Given the description of an element on the screen output the (x, y) to click on. 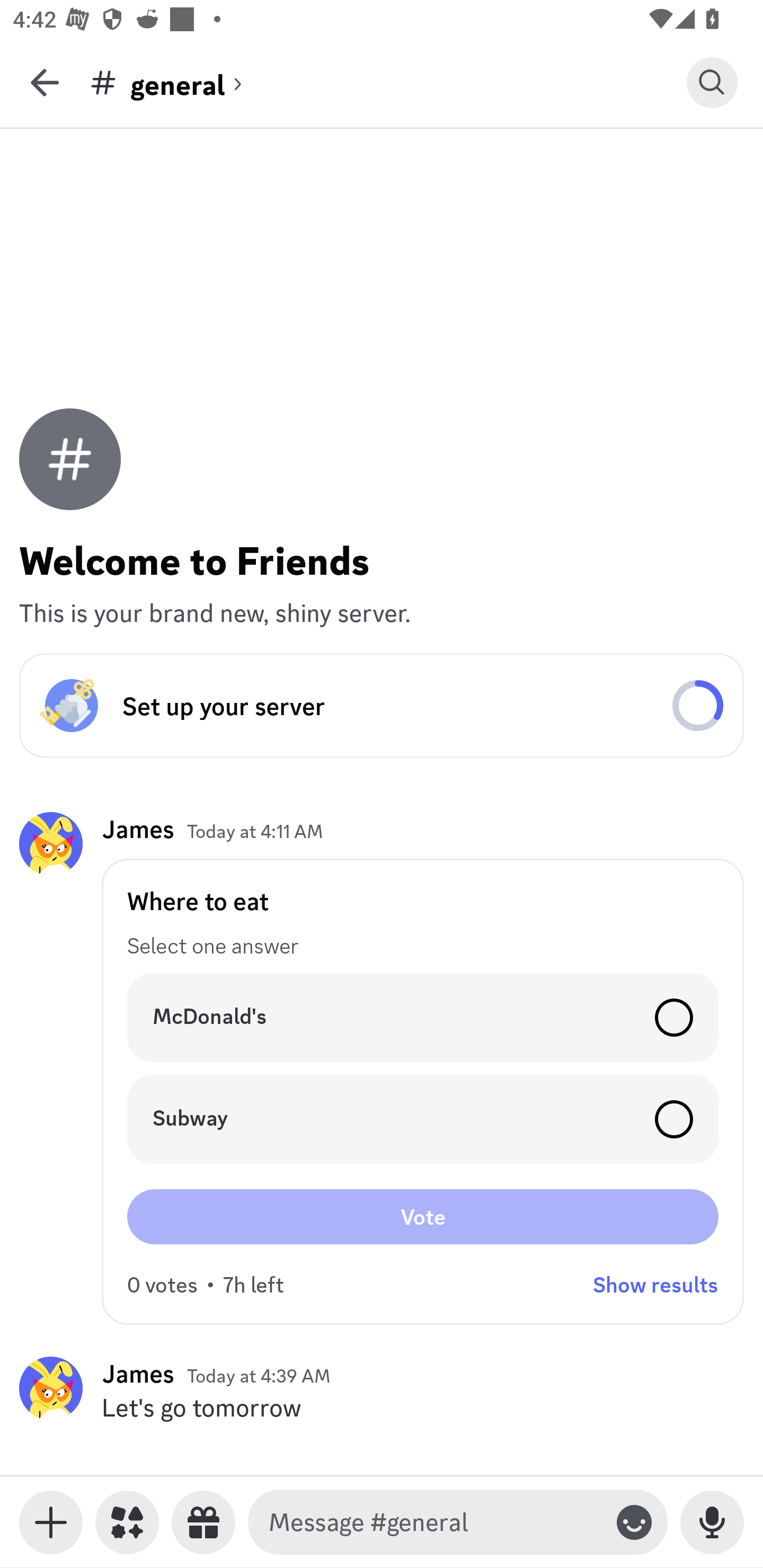
general (channel) general general (channel) (387, 82)
Back (44, 82)
Search (711, 82)
Set up your server (381, 705)
James (137, 829)
McDonald's (422, 1017)
Subway (422, 1118)
Vote (422, 1216)
0 votes  •  7h left (205, 1284)
Show results (655, 1284)
James (137, 1373)
Message #general Toggle emoji keyboard (457, 1522)
Toggle media keyboard (50, 1522)
Apps (126, 1522)
Send a gift (203, 1522)
Record Voice Message (711, 1522)
